Given the description of an element on the screen output the (x, y) to click on. 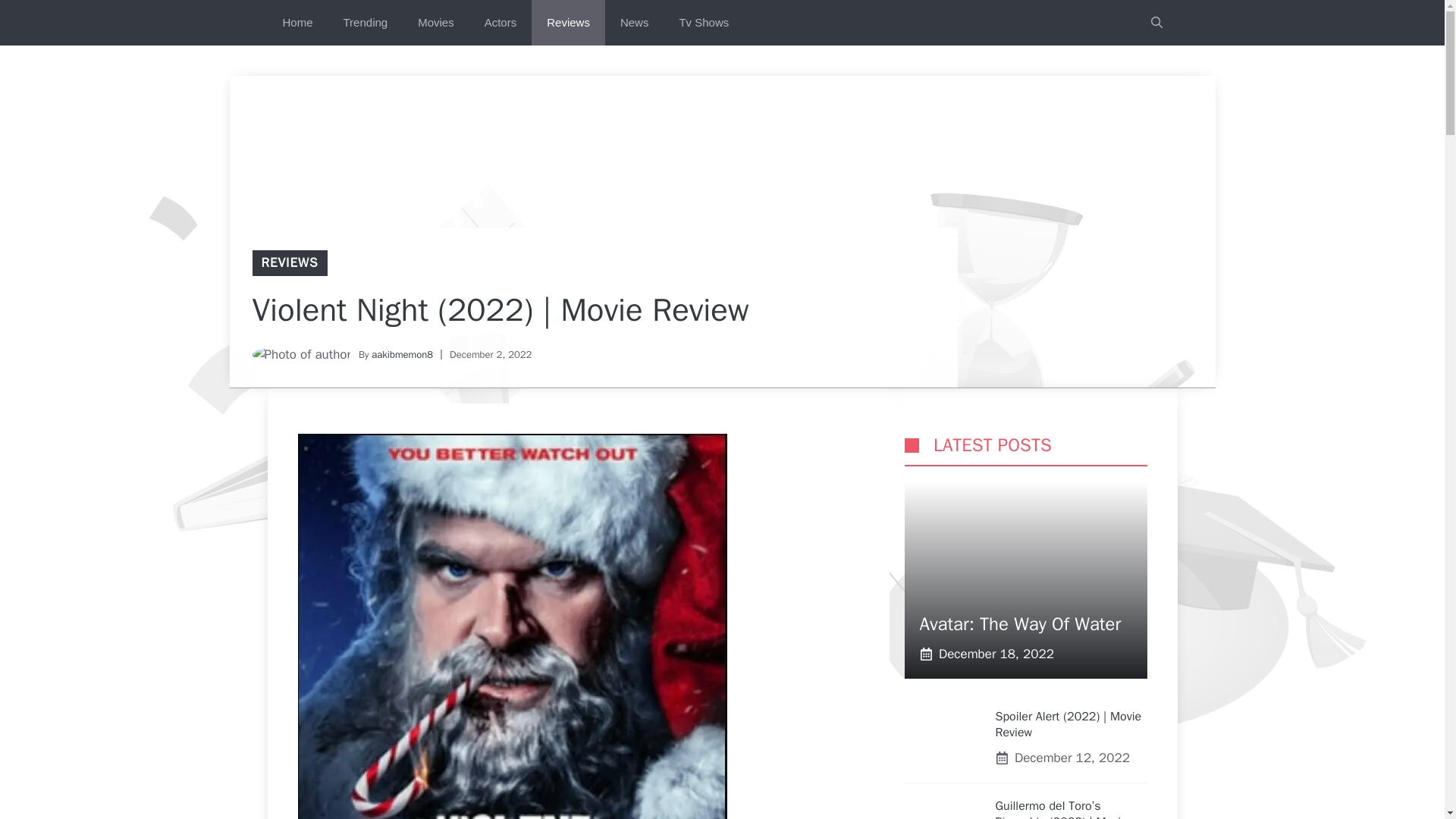
SORRY, YOUR BROWSER DOES NOT SUPPORT INLINE SVG. (911, 445)
Tv Shows (703, 22)
Reviews (568, 22)
Trending (366, 22)
Home (296, 22)
News (634, 22)
Actors (500, 22)
Movies (435, 22)
aakibmemon8 (401, 354)
REVIEWS (288, 262)
Avatar: The Way Of Water (1019, 623)
